Given the description of an element on the screen output the (x, y) to click on. 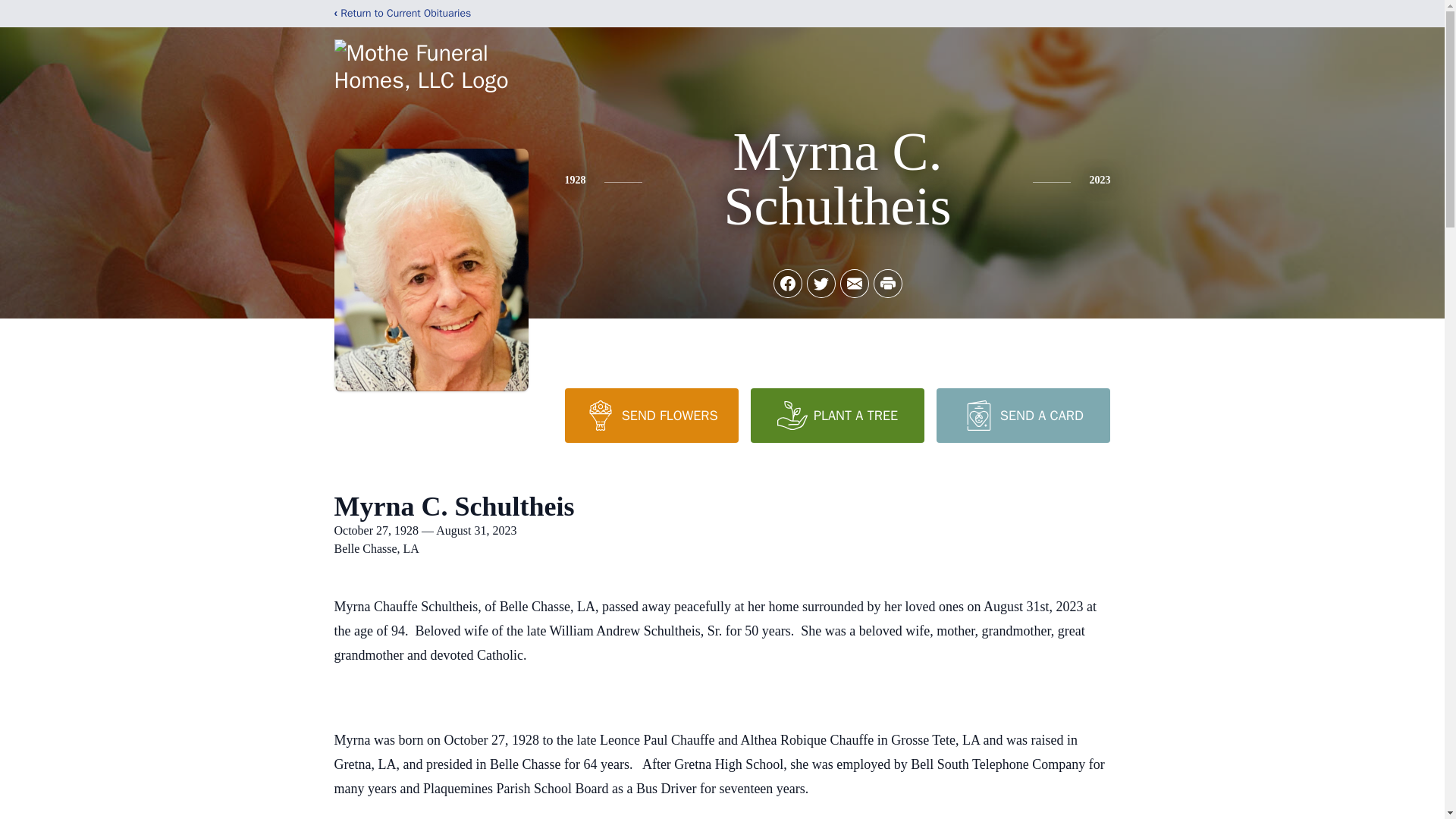
SEND FLOWERS (651, 415)
PLANT A TREE (837, 415)
SEND A CARD (1022, 415)
